Given the description of an element on the screen output the (x, y) to click on. 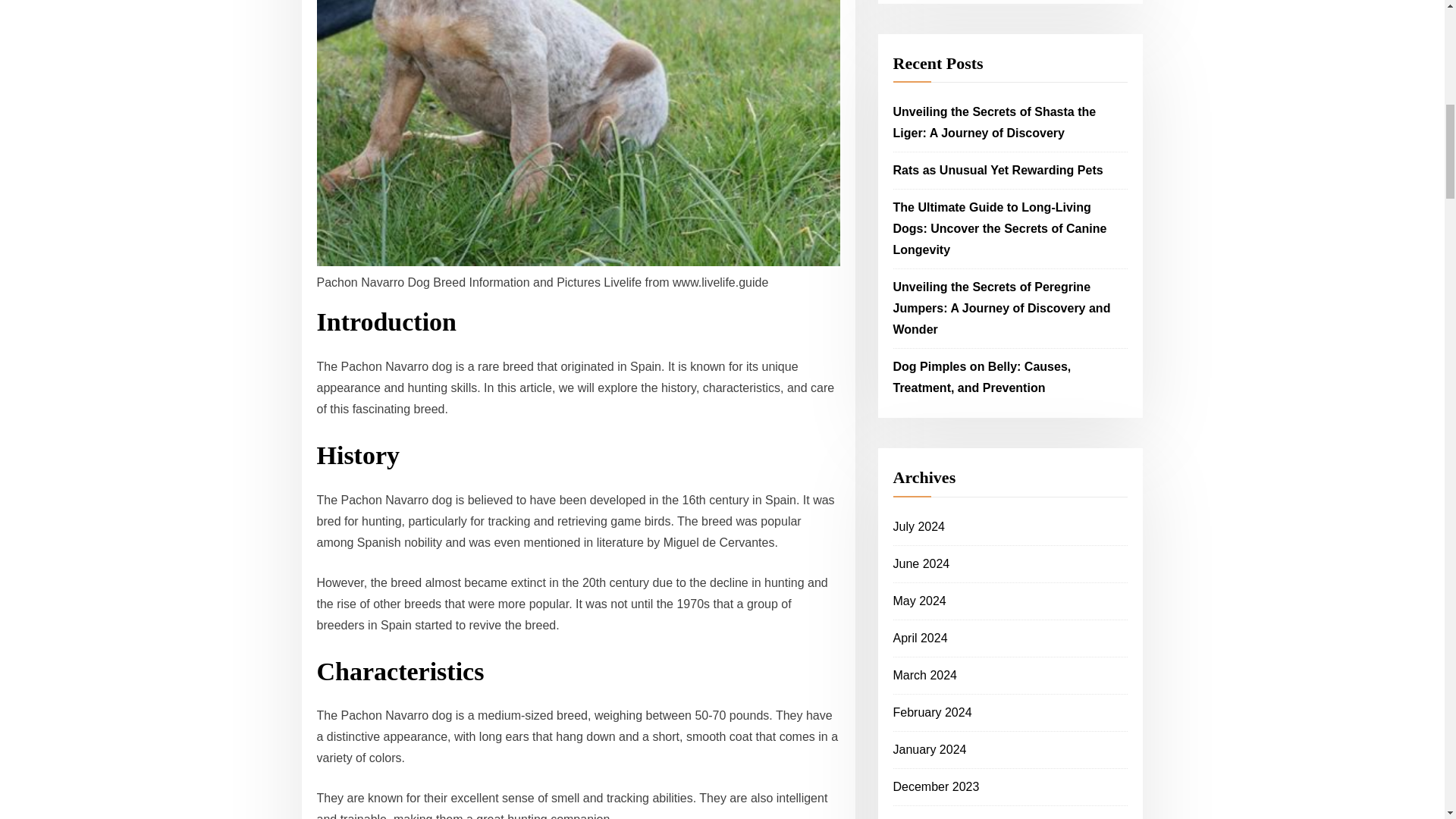
December 2023 (936, 786)
May 2024 (919, 600)
April 2024 (920, 637)
March 2024 (925, 675)
Dog Pimples on Belly: Causes, Treatment, and Prevention (982, 376)
January 2024 (929, 748)
February 2024 (932, 712)
July 2024 (918, 526)
Rats as Unusual Yet Rewarding Pets (998, 169)
June 2024 (921, 563)
